Given the description of an element on the screen output the (x, y) to click on. 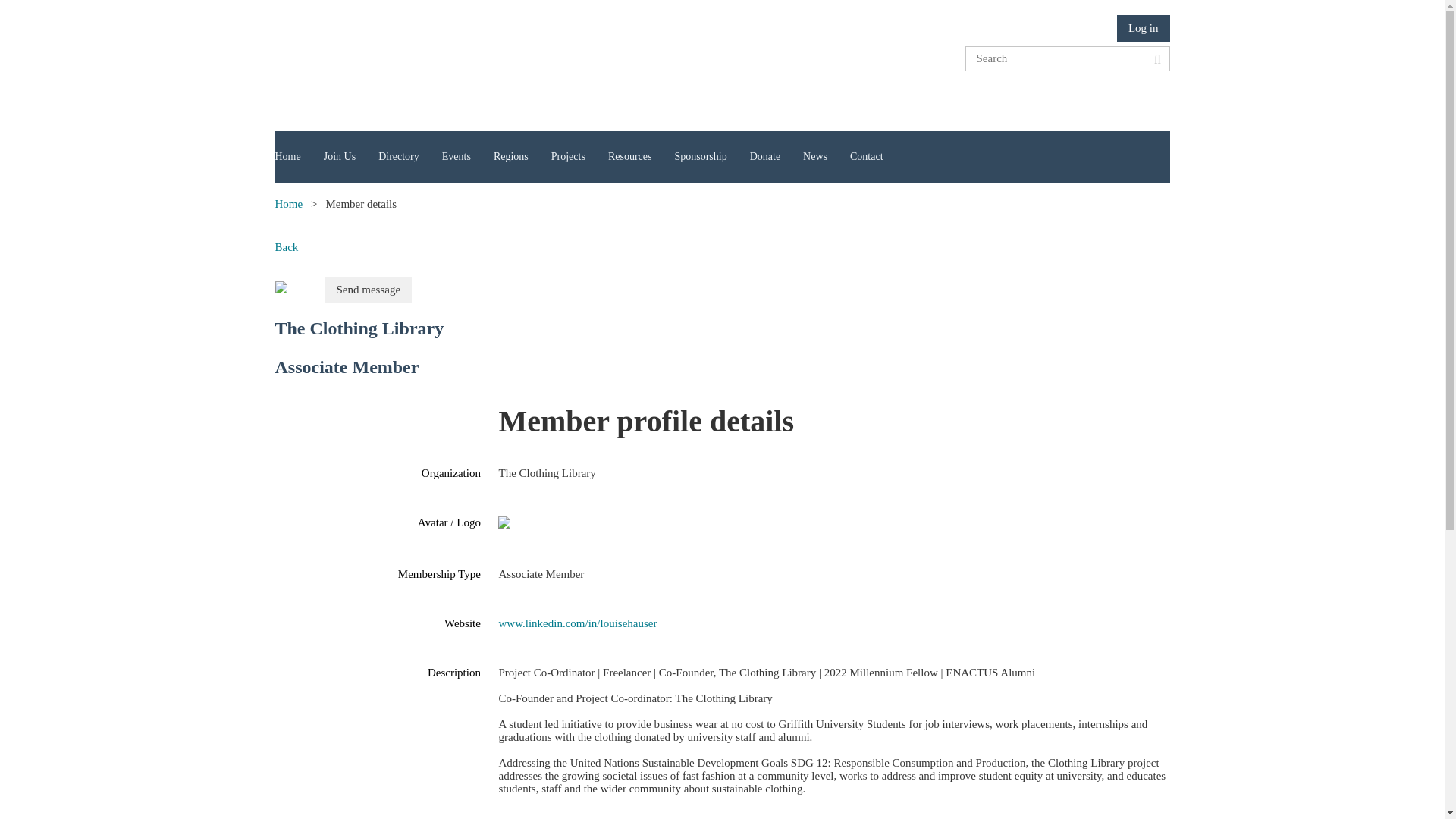
Sponsorship Element type: text (711, 156)
Regions Element type: text (522, 156)
Directory Element type: text (410, 156)
Log in Element type: text (1143, 28)
Events Element type: text (467, 156)
Facebook Element type: hover (1041, 95)
LinkedIn Element type: hover (1101, 95)
Home Element type: text (288, 203)
Instagram Element type: hover (1160, 95)
Resources Element type: text (641, 156)
Twitter Element type: hover (1071, 95)
News Element type: text (826, 156)
Back Element type: text (286, 247)
Join Us Element type: text (350, 156)
Projects Element type: text (579, 156)
Donate Element type: text (776, 156)
Home Element type: text (298, 156)
Contact Element type: text (878, 156)
www.linkedin.com/in/louisehauser Element type: text (577, 623)
YouTube Element type: hover (1130, 95)
Send message Element type: text (367, 290)
